Given the description of an element on the screen output the (x, y) to click on. 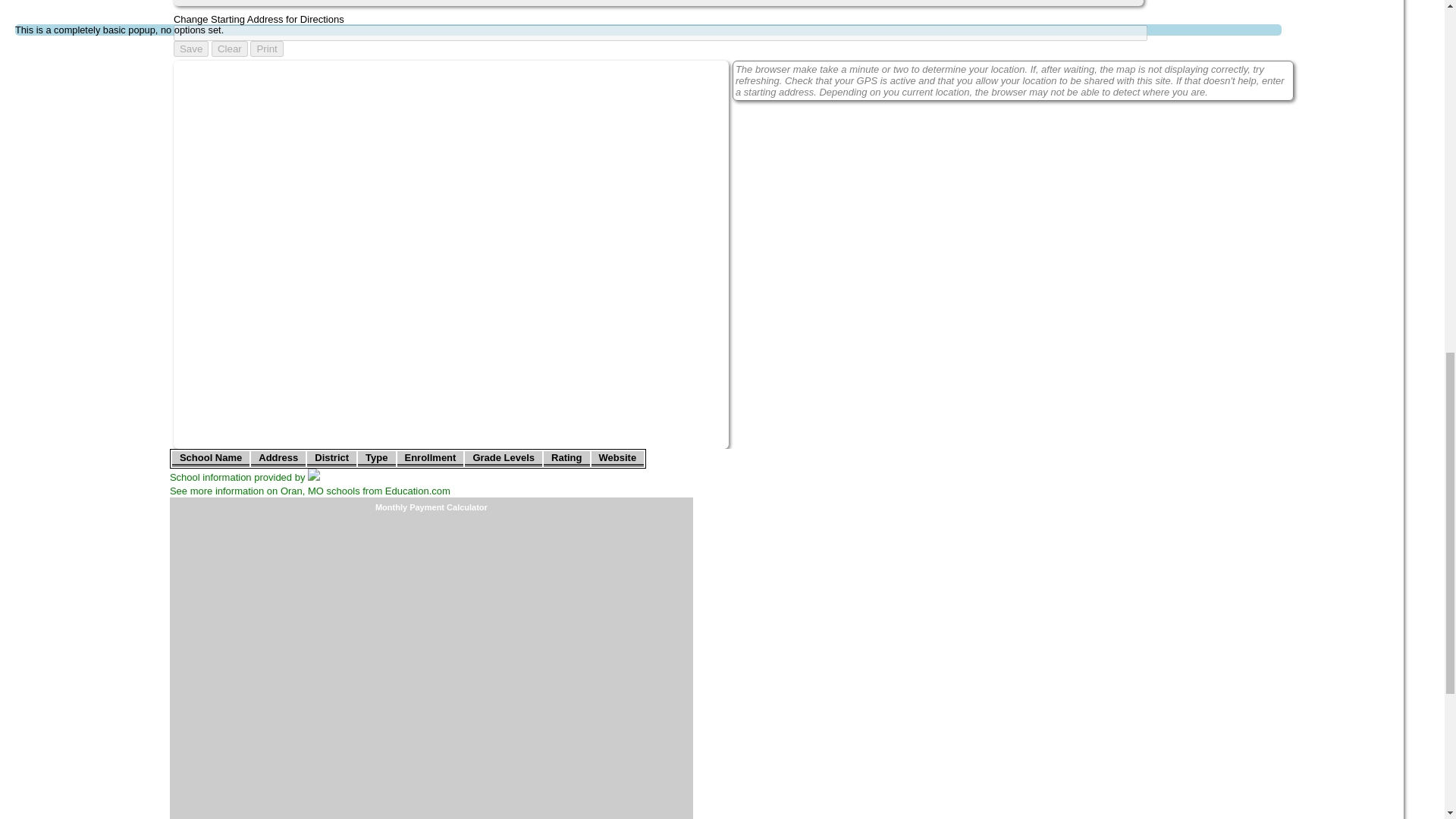
Save (190, 48)
